Given the description of an element on the screen output the (x, y) to click on. 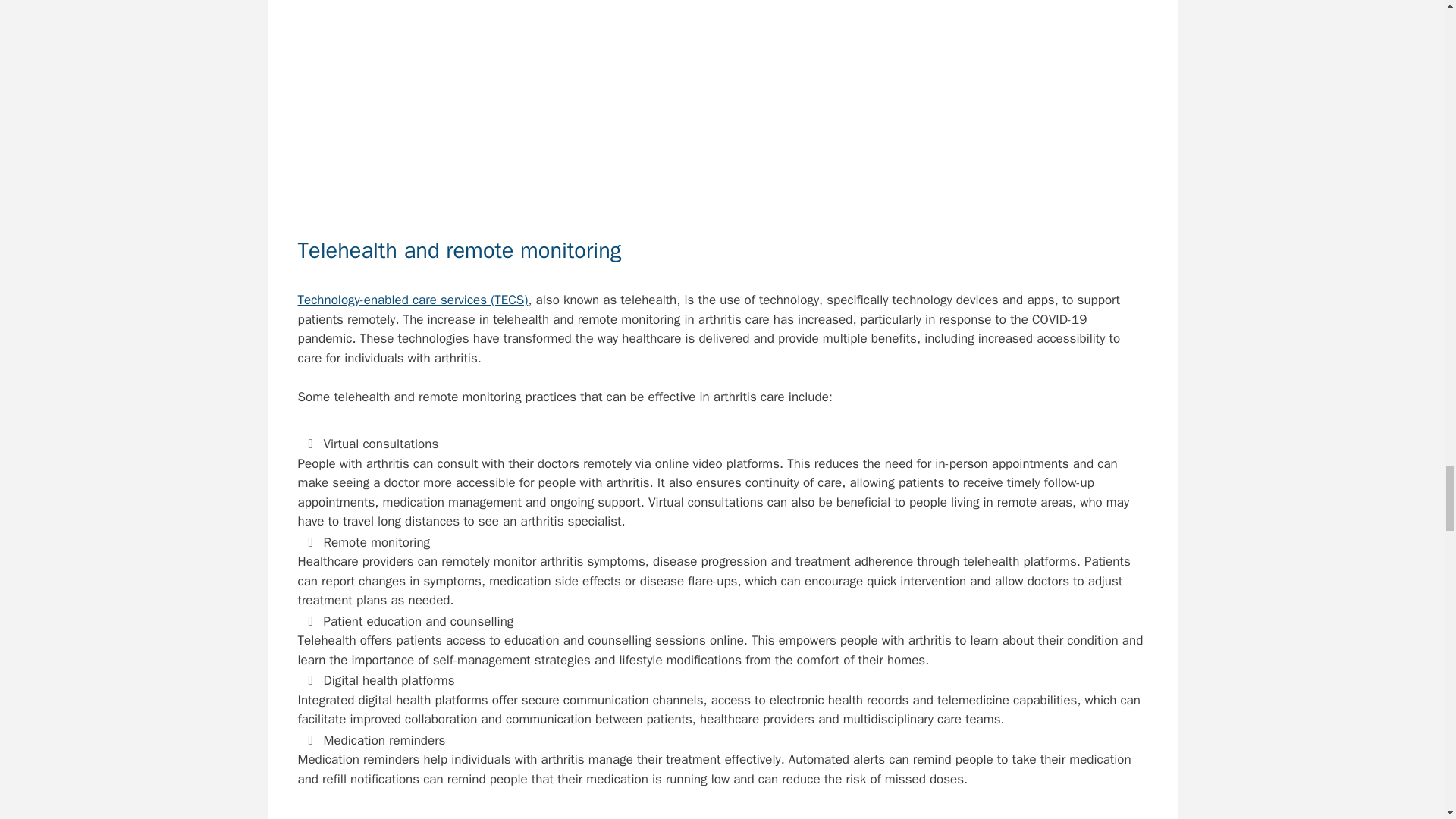
arthritis (835, 817)
